Given the description of an element on the screen output the (x, y) to click on. 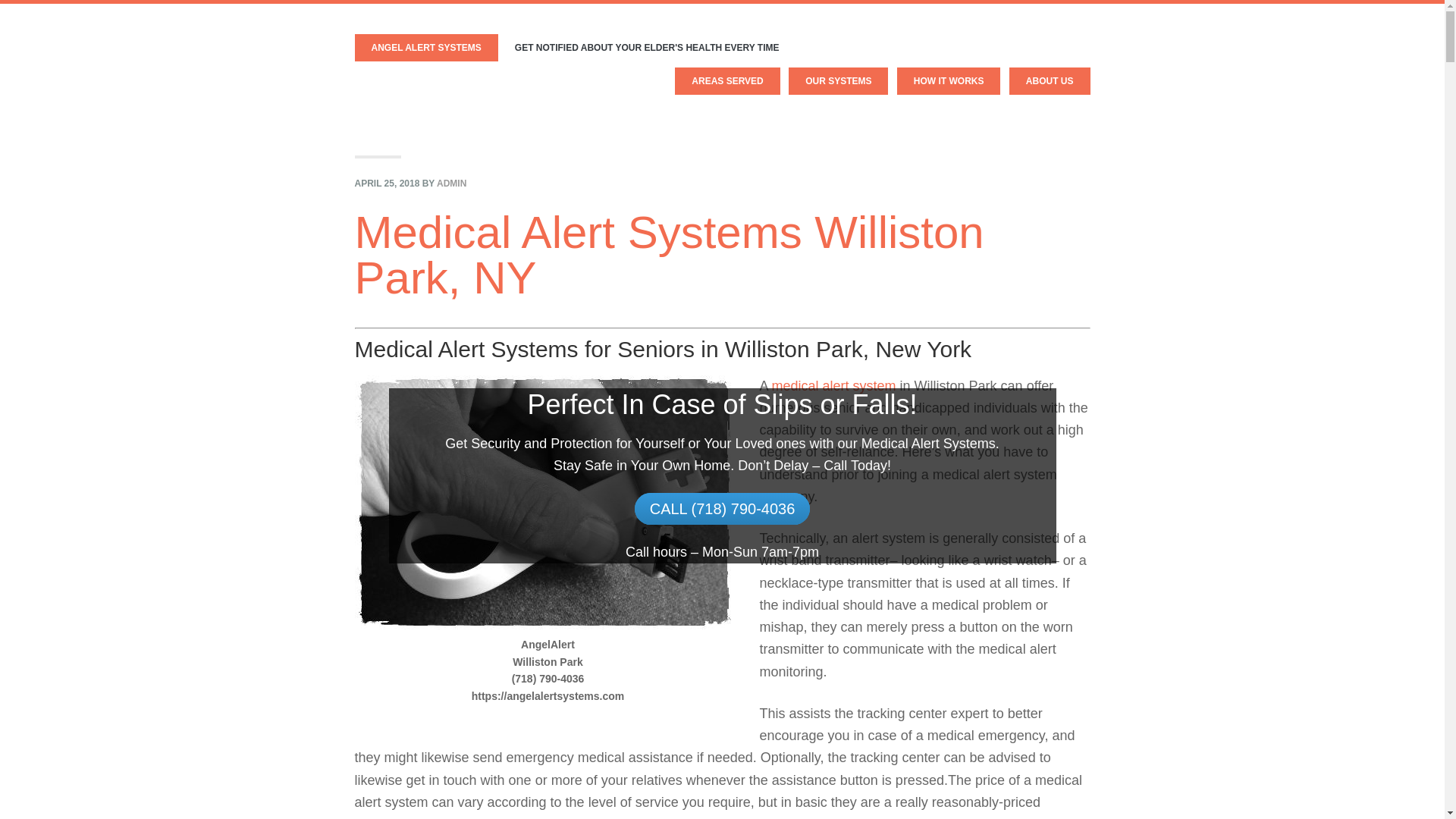
ADMIN (450, 183)
medical alert system (833, 385)
HOW IT WORKS (948, 81)
AREAS SERVED (726, 81)
ABOUT US (1049, 81)
OUR SYSTEMS (838, 81)
ANGEL ALERT SYSTEMS (426, 47)
